Given the description of an element on the screen output the (x, y) to click on. 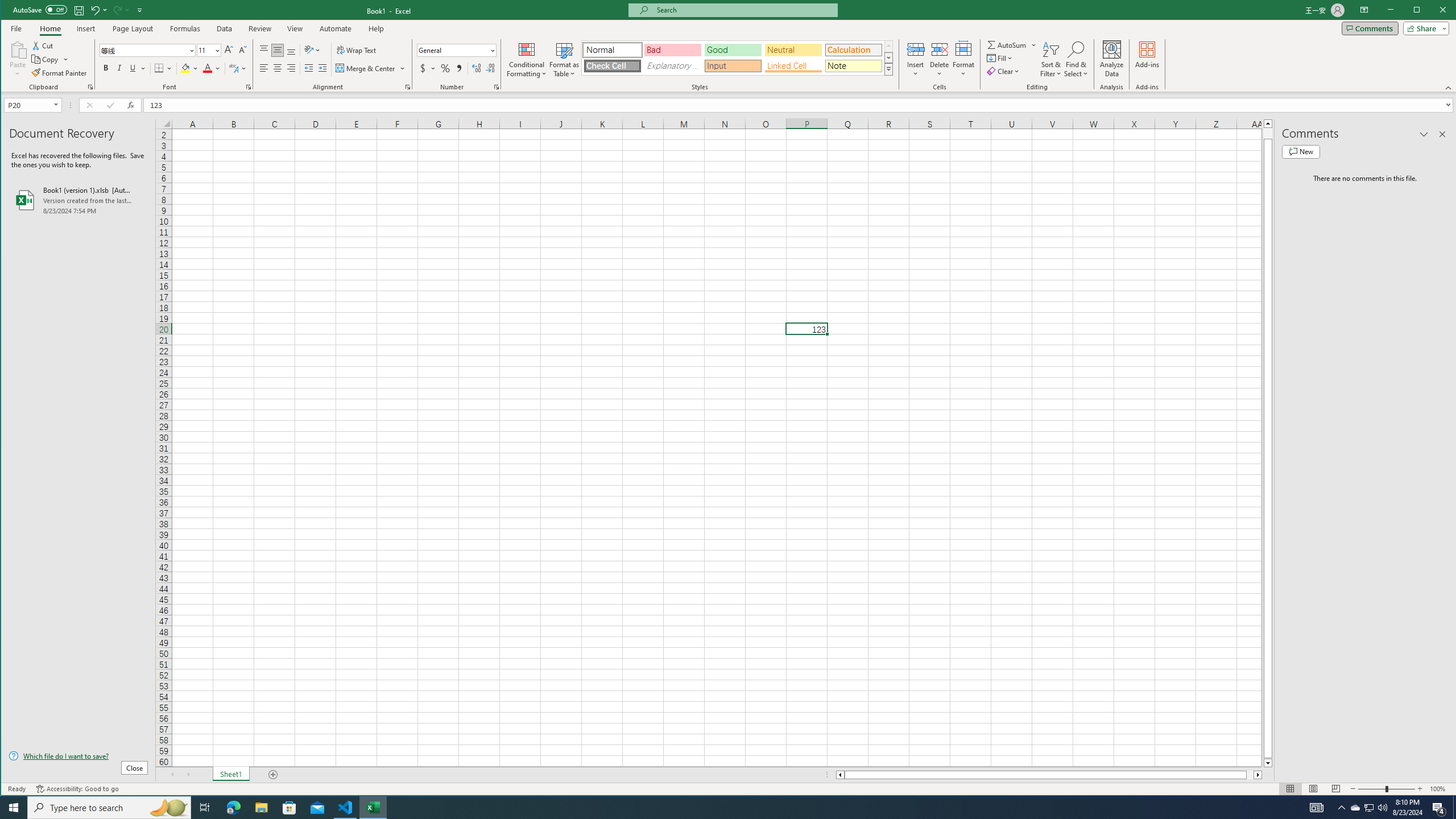
Increase Font Size (228, 49)
Orientation (312, 49)
Bottom Border (158, 68)
Align Left (263, 68)
Format (963, 59)
Underline (137, 68)
Cut (42, 45)
Search highlights icon opens search home window (167, 807)
Font (143, 50)
Find & Select (1075, 59)
